Given the description of an element on the screen output the (x, y) to click on. 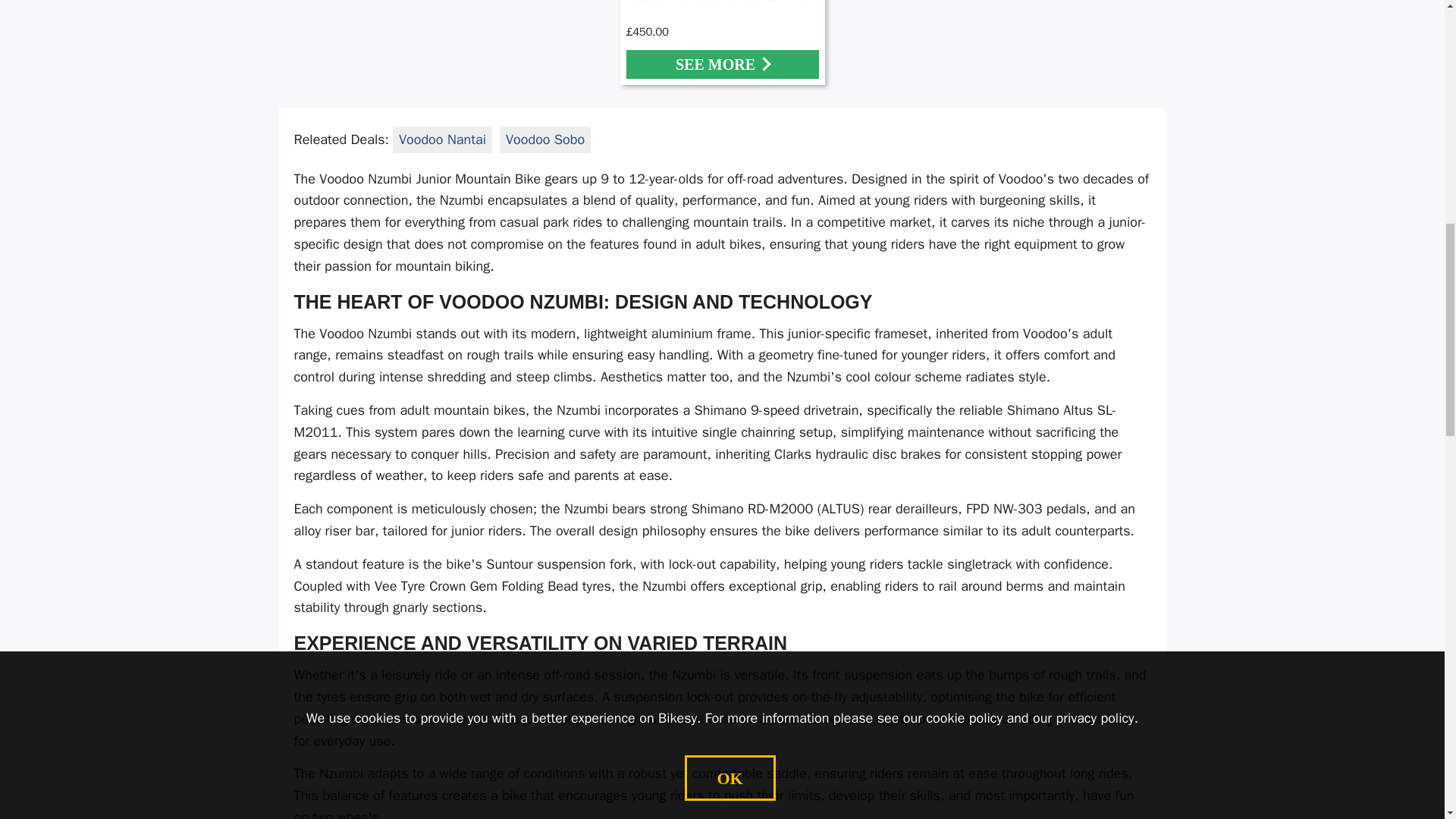
Voodoo Nantai (442, 139)
Voodoo Nzumbi Junior Mountain Bike (722, 42)
Voodoo Sobo (545, 139)
